Given the description of an element on the screen output the (x, y) to click on. 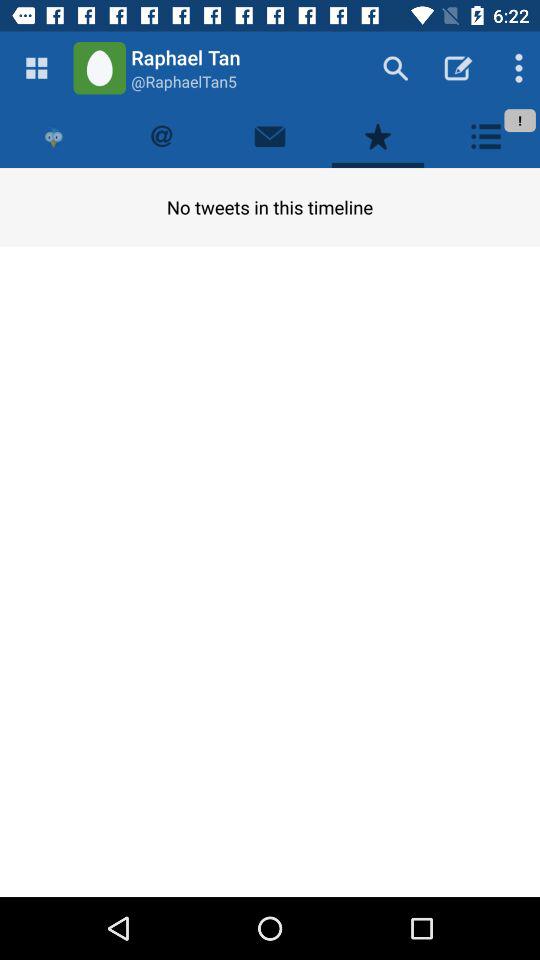
flip to the no tweets in icon (270, 206)
